Given the description of an element on the screen output the (x, y) to click on. 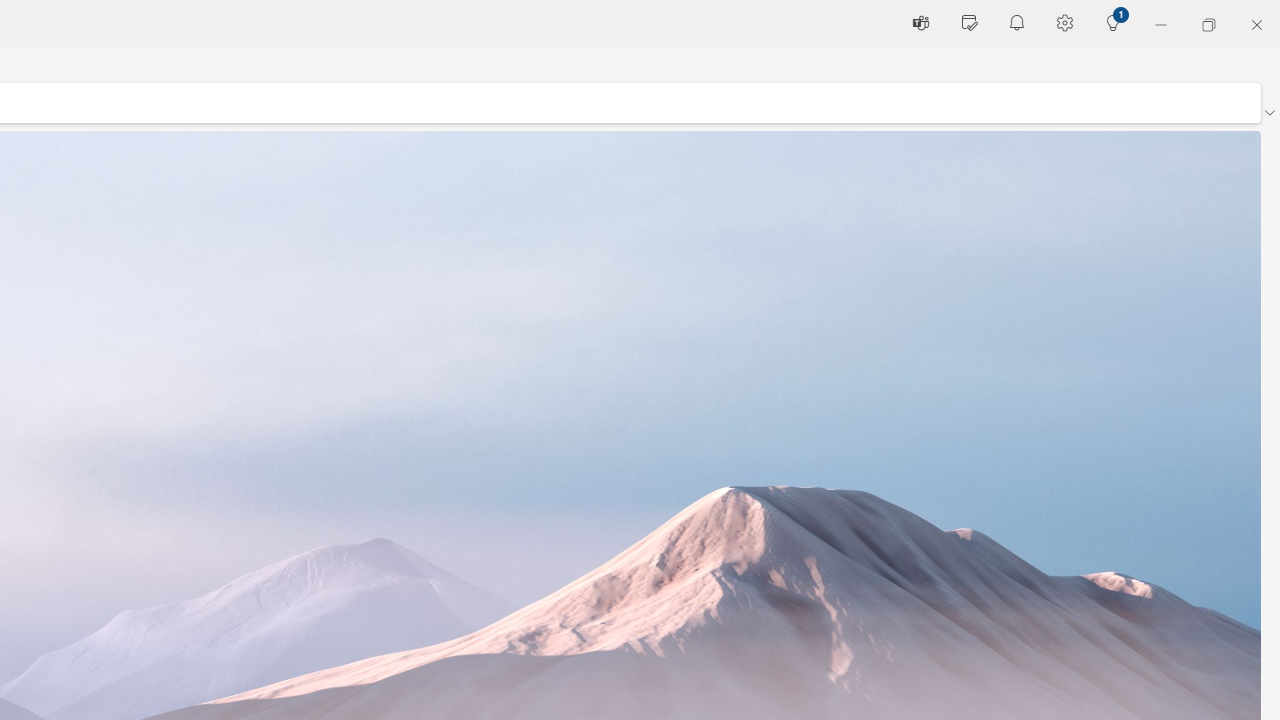
Ribbon display options (1269, 112)
